Given the description of an element on the screen output the (x, y) to click on. 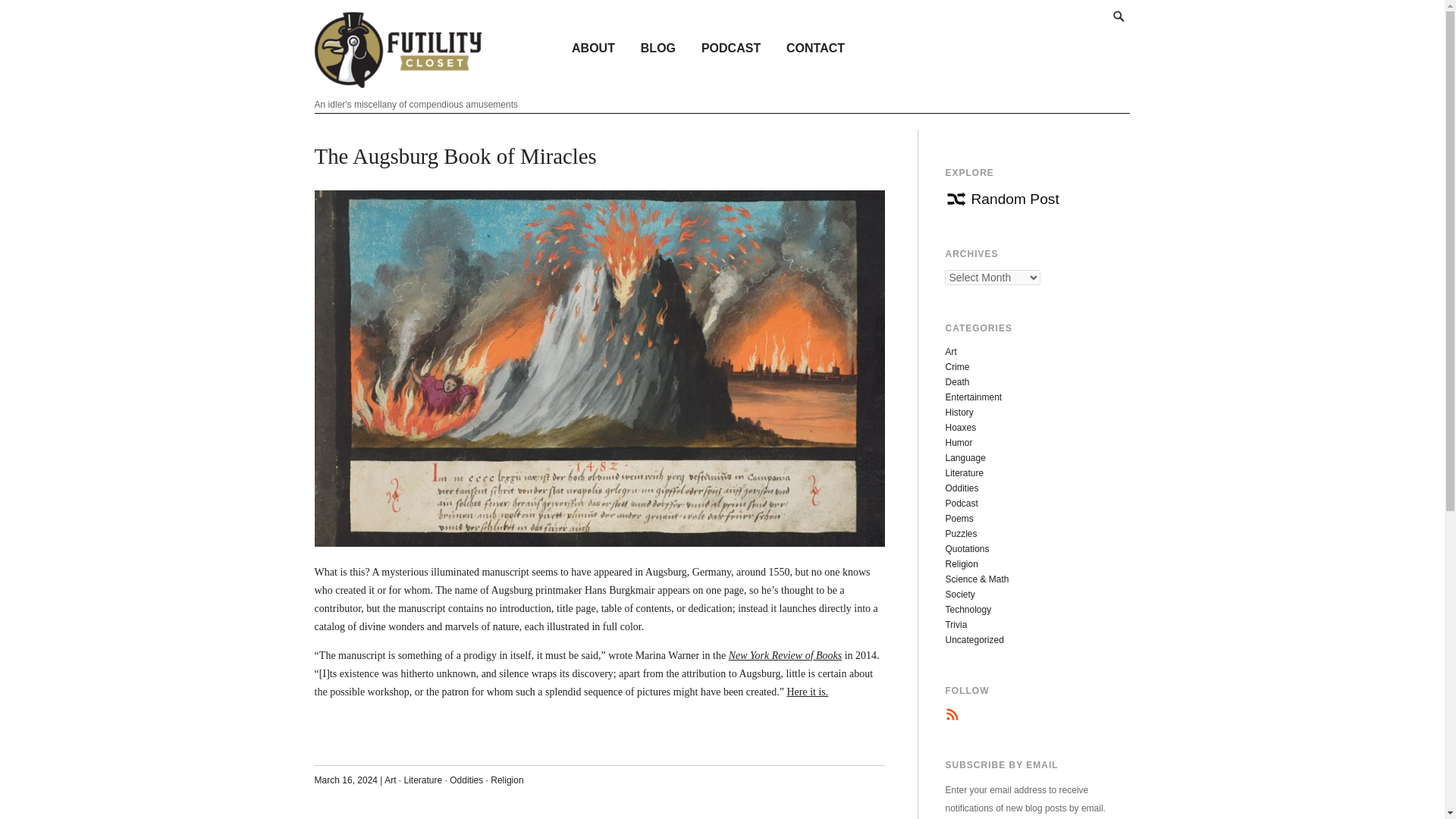
Literature (964, 472)
CONTACT (815, 47)
Here it is. (807, 691)
BLOG (657, 47)
Oddities (466, 779)
Religion (506, 779)
Hoaxes (959, 427)
Quotations (966, 548)
Random Post (1001, 198)
Poems (958, 518)
